Given the description of an element on the screen output the (x, y) to click on. 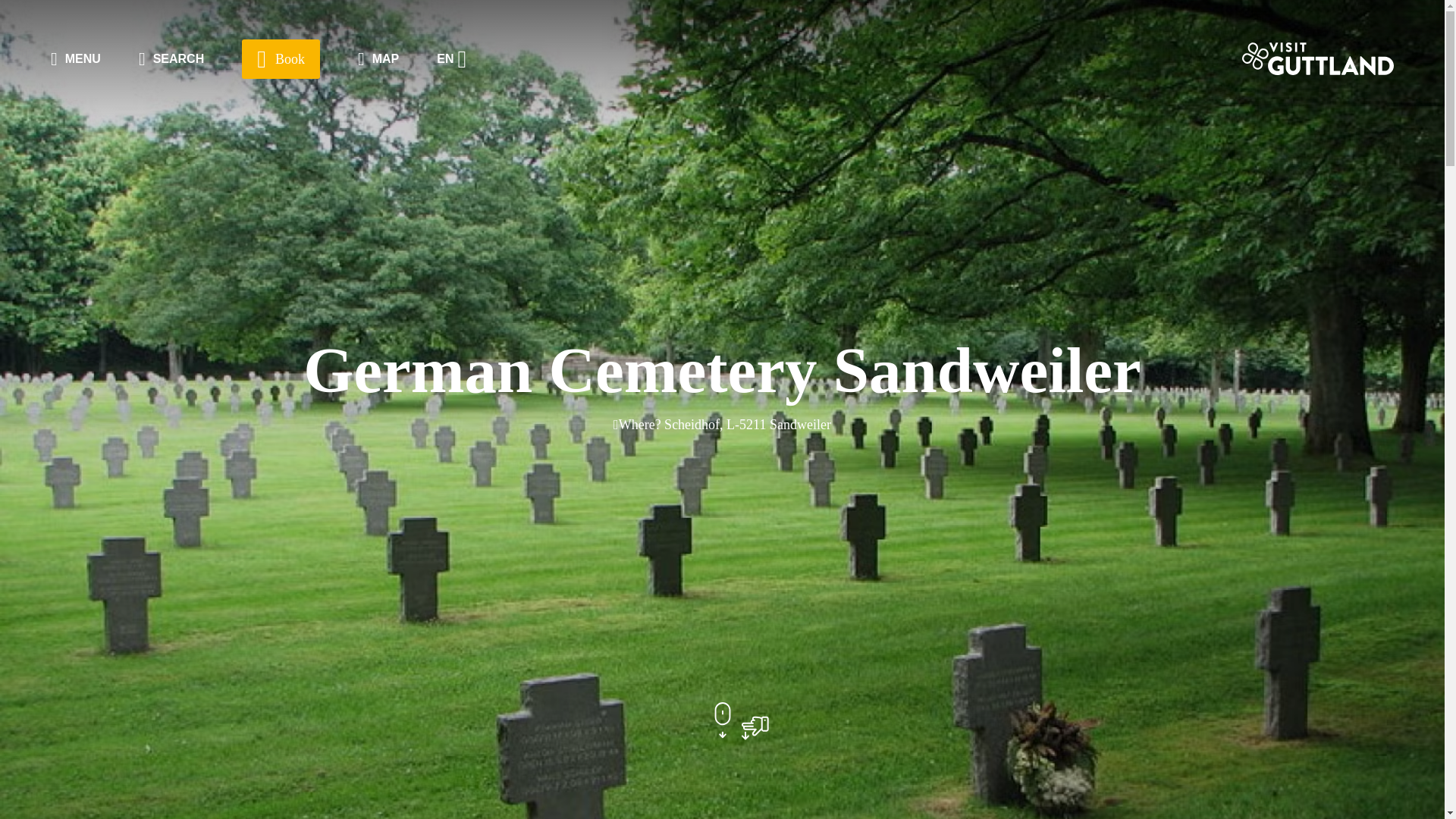
MAP (378, 59)
SEARCH (170, 59)
EN (451, 58)
MAP (378, 58)
MENU (75, 59)
Book (280, 58)
